Given the description of an element on the screen output the (x, y) to click on. 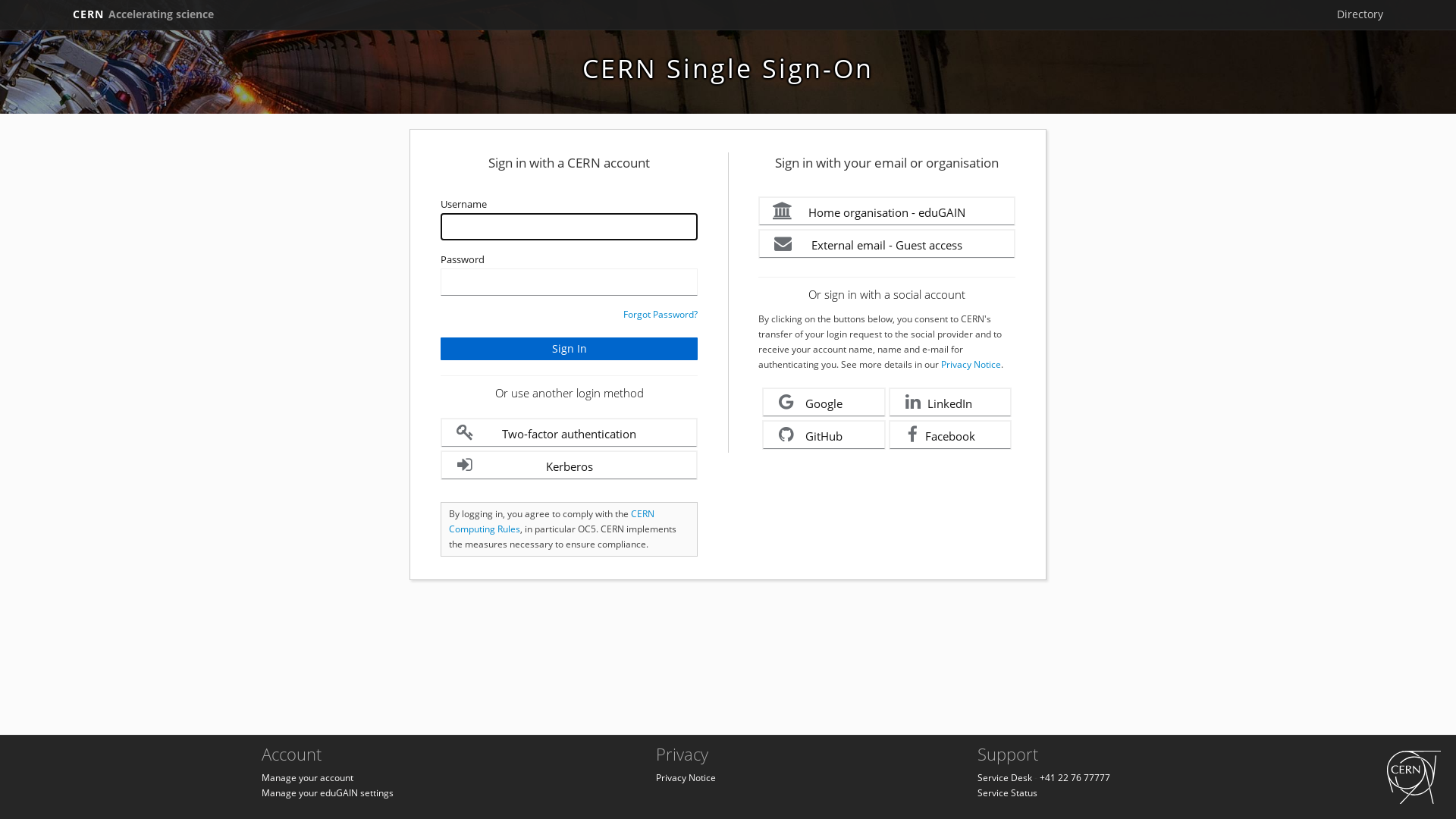
Manage your account Element type: text (307, 777)
CERN Computing Rules Element type: text (551, 521)
GitHub Element type: text (823, 434)
Google Element type: text (823, 402)
Facebook Element type: text (950, 434)
Service Desk Element type: text (1004, 777)
+41 22 76 77777 Element type: text (1074, 777)
Forgot Password? Element type: text (660, 313)
Privacy Notice Element type: text (685, 777)
LinkedIn Element type: text (950, 402)
CERN Accelerating science Element type: text (142, 14)
Manage your eduGAIN settings Element type: text (327, 792)
Kerberos Element type: text (568, 465)
Directory Element type: text (1359, 14)
Two-factor authentication Element type: text (568, 432)
Home organisation - eduGAIN Element type: text (886, 210)
Sign In Element type: text (568, 348)
External email - Guest access Element type: text (886, 243)
Service Status Element type: text (1007, 792)
Privacy Notice Element type: text (971, 363)
